Given the description of an element on the screen output the (x, y) to click on. 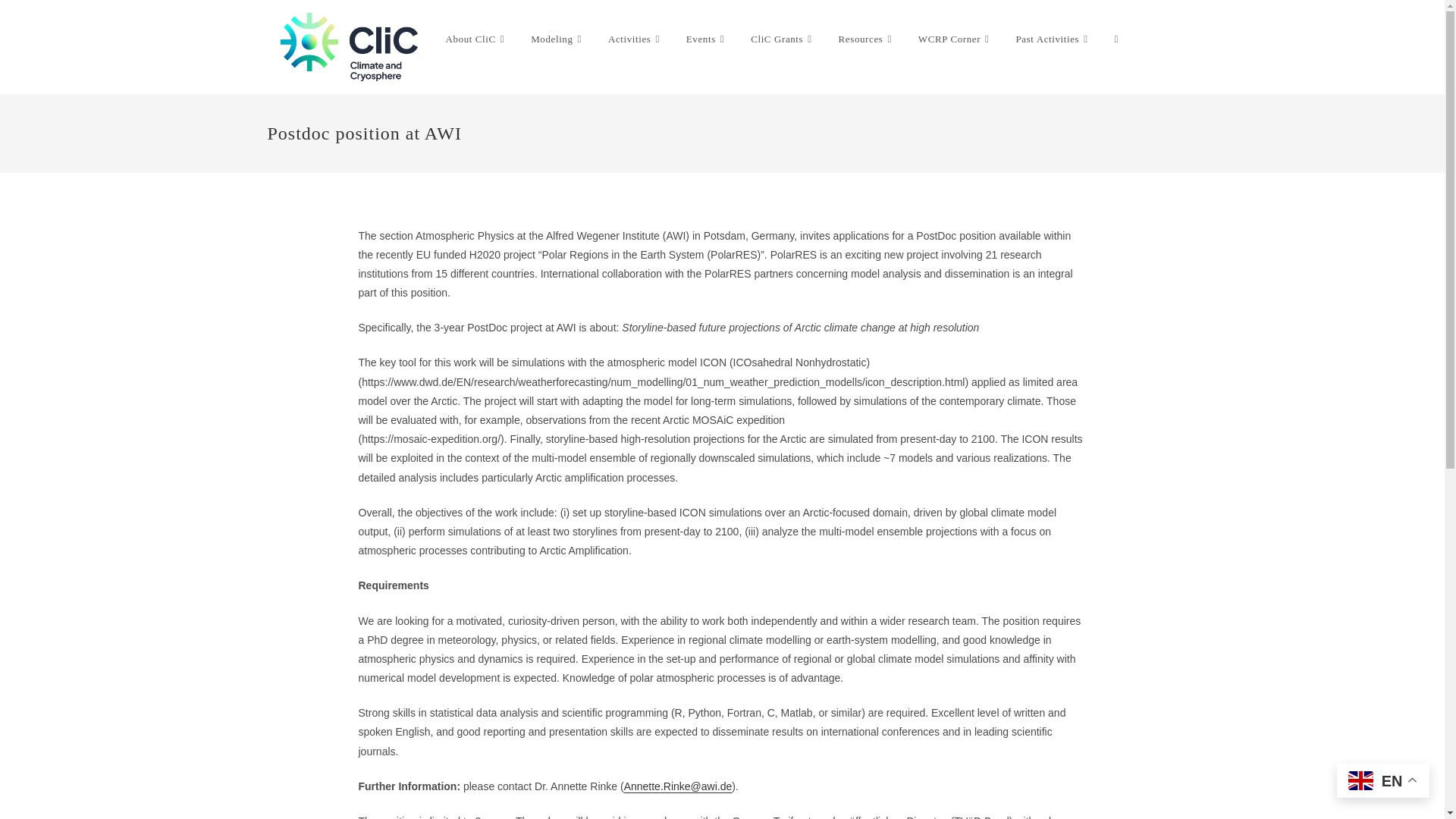
Modeling (557, 39)
Activities (635, 39)
About CliC (476, 39)
